Given the description of an element on the screen output the (x, y) to click on. 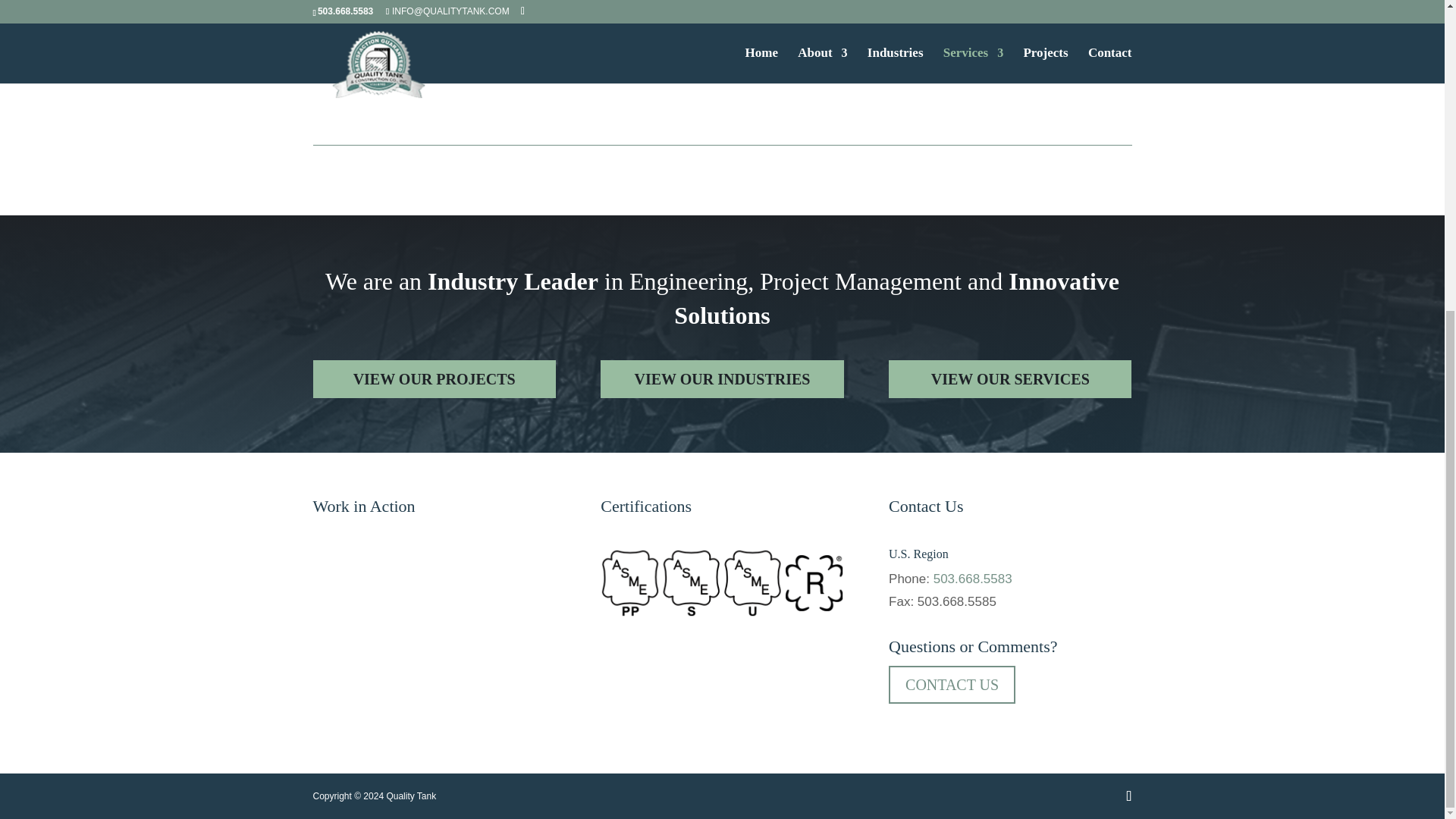
VIEW OUR SERVICES (1009, 379)
CONTACT US (951, 684)
VIEW OUR PROJECTS (433, 379)
503.668.5583 (972, 578)
VIEW OUR INDUSTRIES (721, 379)
Certifications (721, 582)
